Given the description of an element on the screen output the (x, y) to click on. 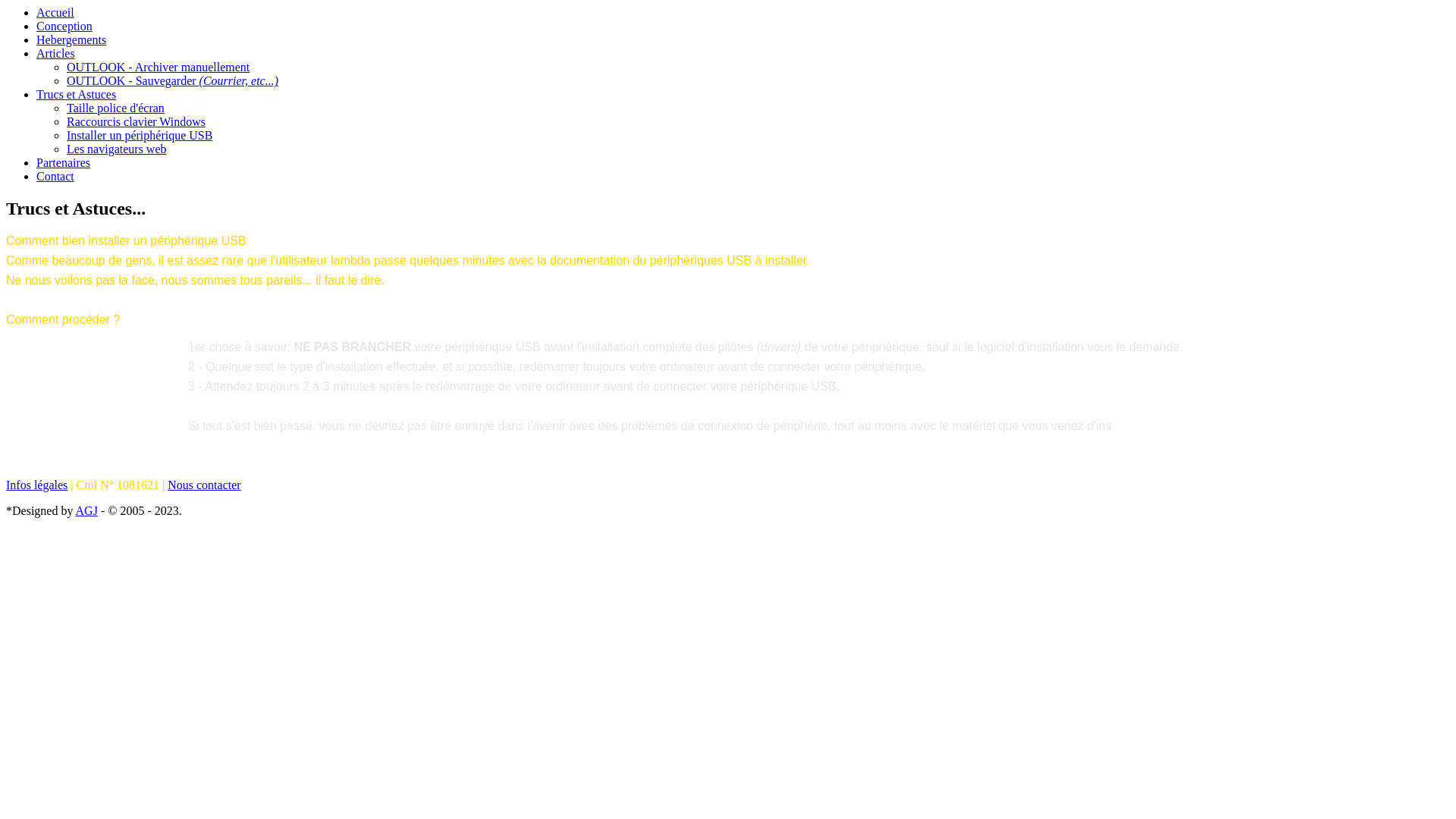
Partenaires Element type: text (63, 162)
OUTLOOK - Archiver manuellement Element type: text (157, 66)
Conception Element type: text (64, 25)
Articles Element type: text (55, 53)
Raccourcis clavier Windows Element type: text (135, 121)
Hebergements Element type: text (71, 39)
AGJ Element type: text (86, 510)
Accueil Element type: text (55, 12)
OUTLOOK - Sauvegarder (Courrier, etc...) Element type: text (172, 80)
Les navigateurs web Element type: text (116, 148)
Nous contacter Element type: text (203, 484)
Trucs et Astuces Element type: text (76, 93)
Contact Element type: text (55, 175)
